Given the description of an element on the screen output the (x, y) to click on. 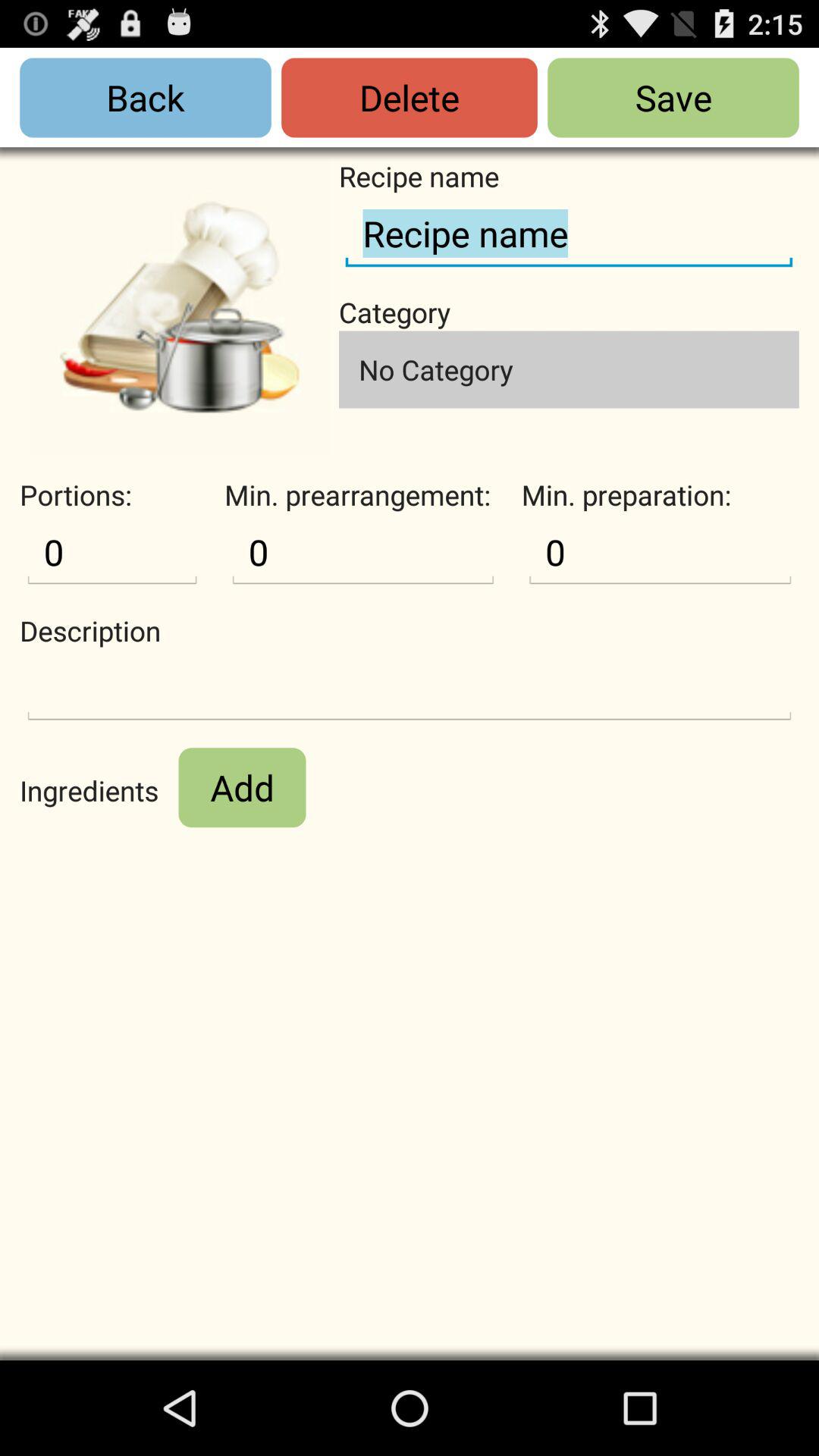
write description (409, 688)
